Given the description of an element on the screen output the (x, y) to click on. 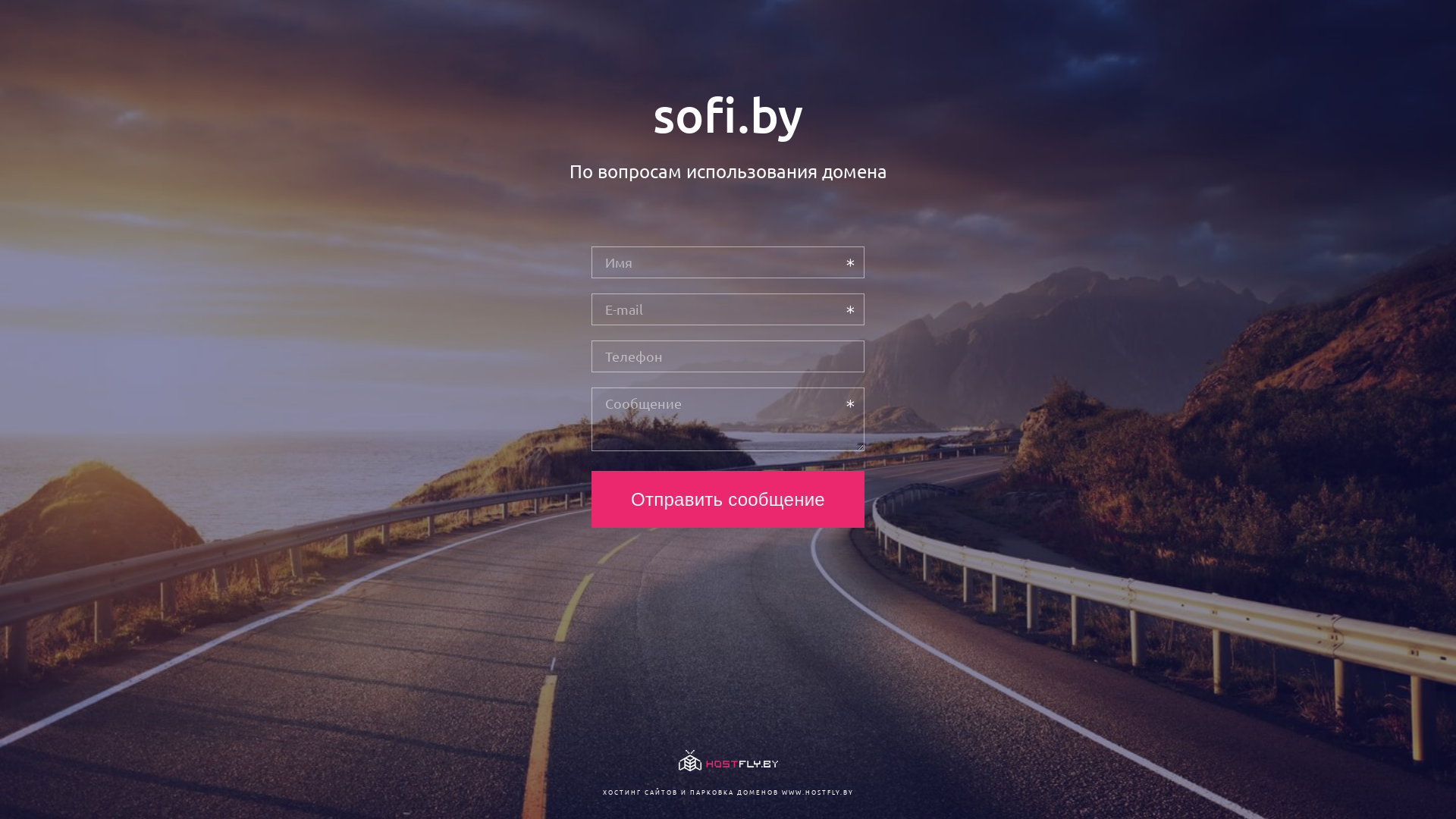
WWW.HOSTFLY.BY Element type: text (817, 791)
